Given the description of an element on the screen output the (x, y) to click on. 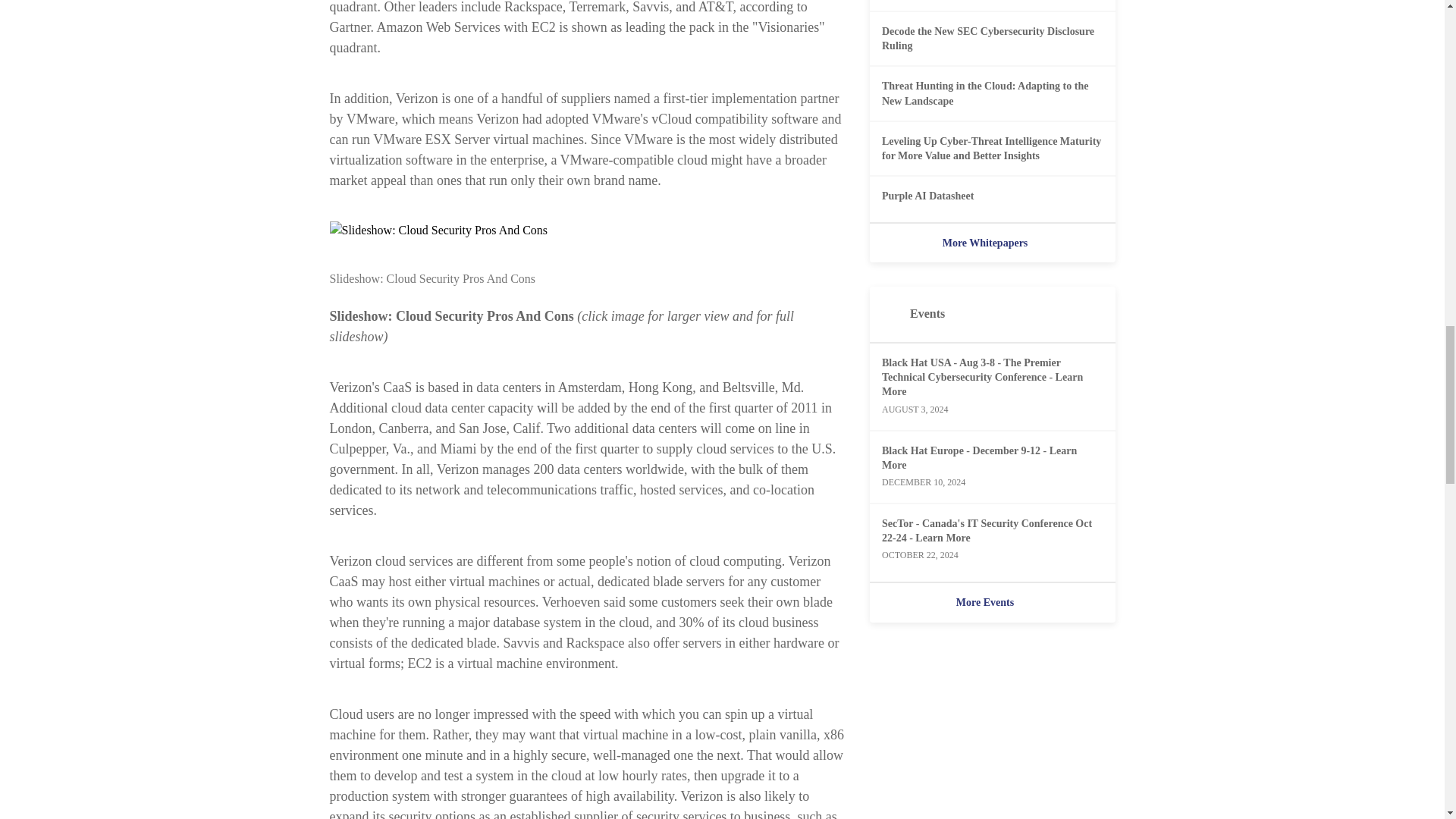
Slideshow: Cloud Security Pros And Cons (586, 230)
